Given the description of an element on the screen output the (x, y) to click on. 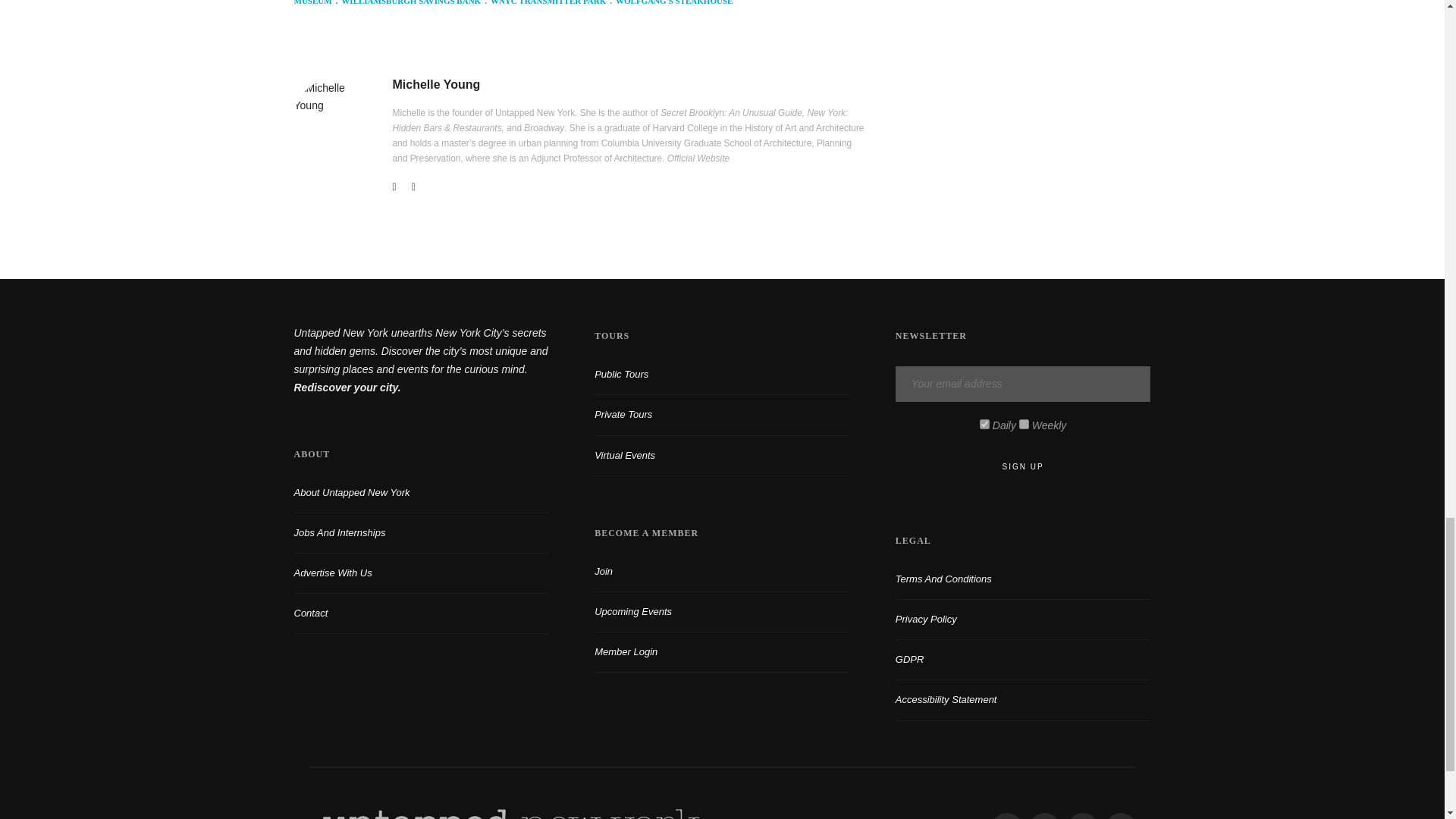
Sign up (1023, 467)
7cff6a70fd (1024, 424)
e99a09560c (984, 424)
